Given the description of an element on the screen output the (x, y) to click on. 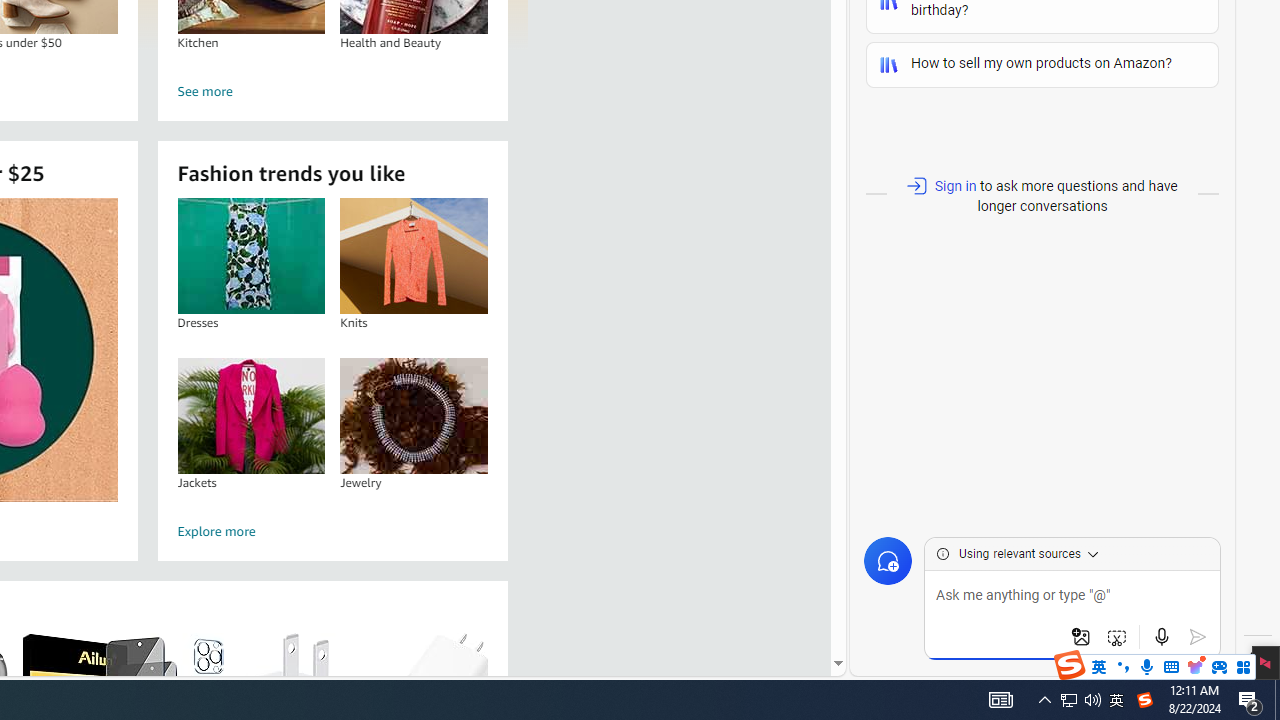
Knits (413, 256)
Jewelry (413, 415)
Explore more (331, 532)
Knits (413, 256)
Dresses (250, 256)
Jackets (250, 415)
Dresses (250, 256)
Jackets (250, 415)
Jewelry (413, 415)
